Given the description of an element on the screen output the (x, y) to click on. 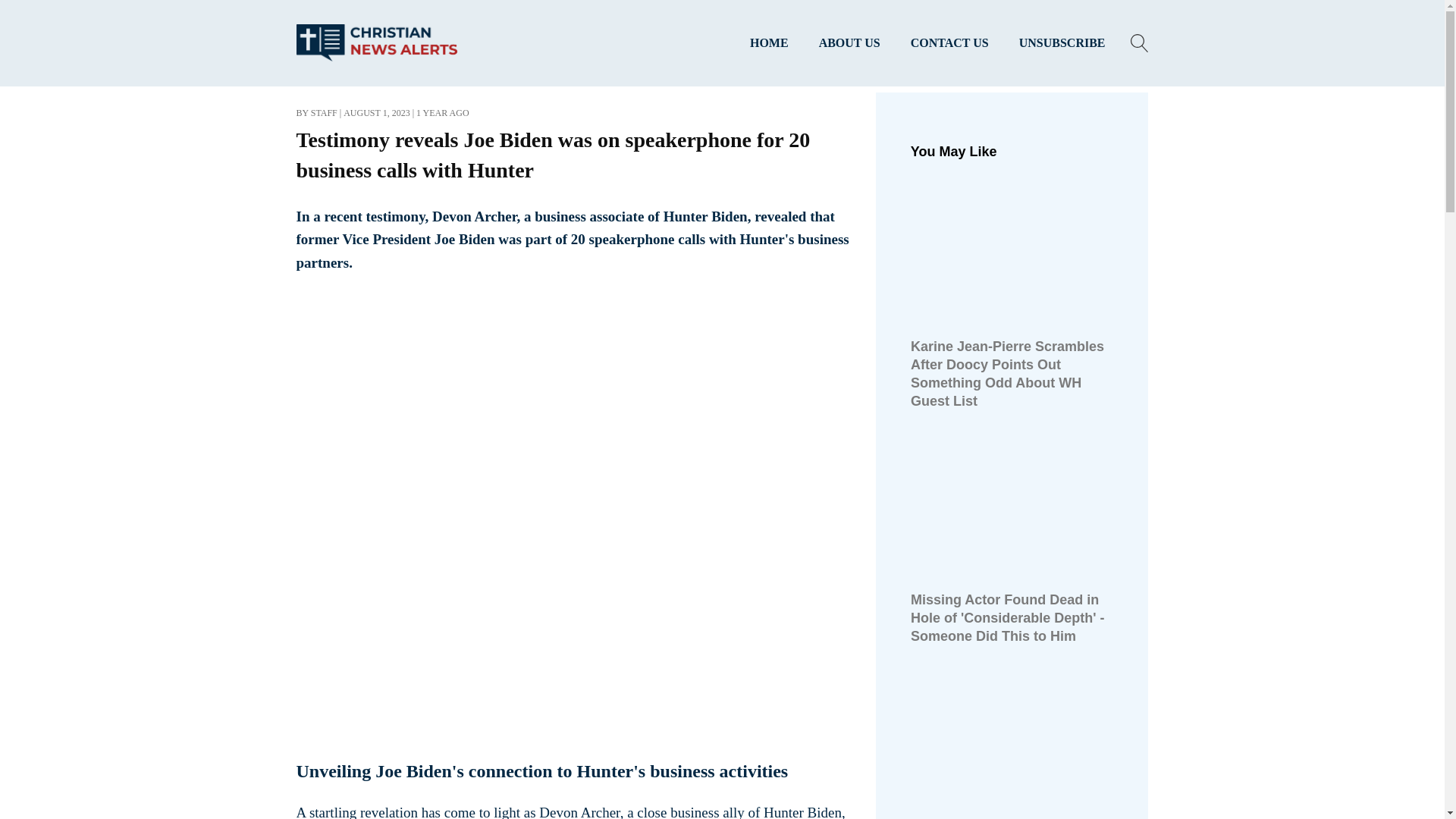
ABOUT US (849, 43)
UNSUBSCRIBE (1062, 43)
CONTACT US (949, 43)
STAFF (324, 112)
